Given the description of an element on the screen output the (x, y) to click on. 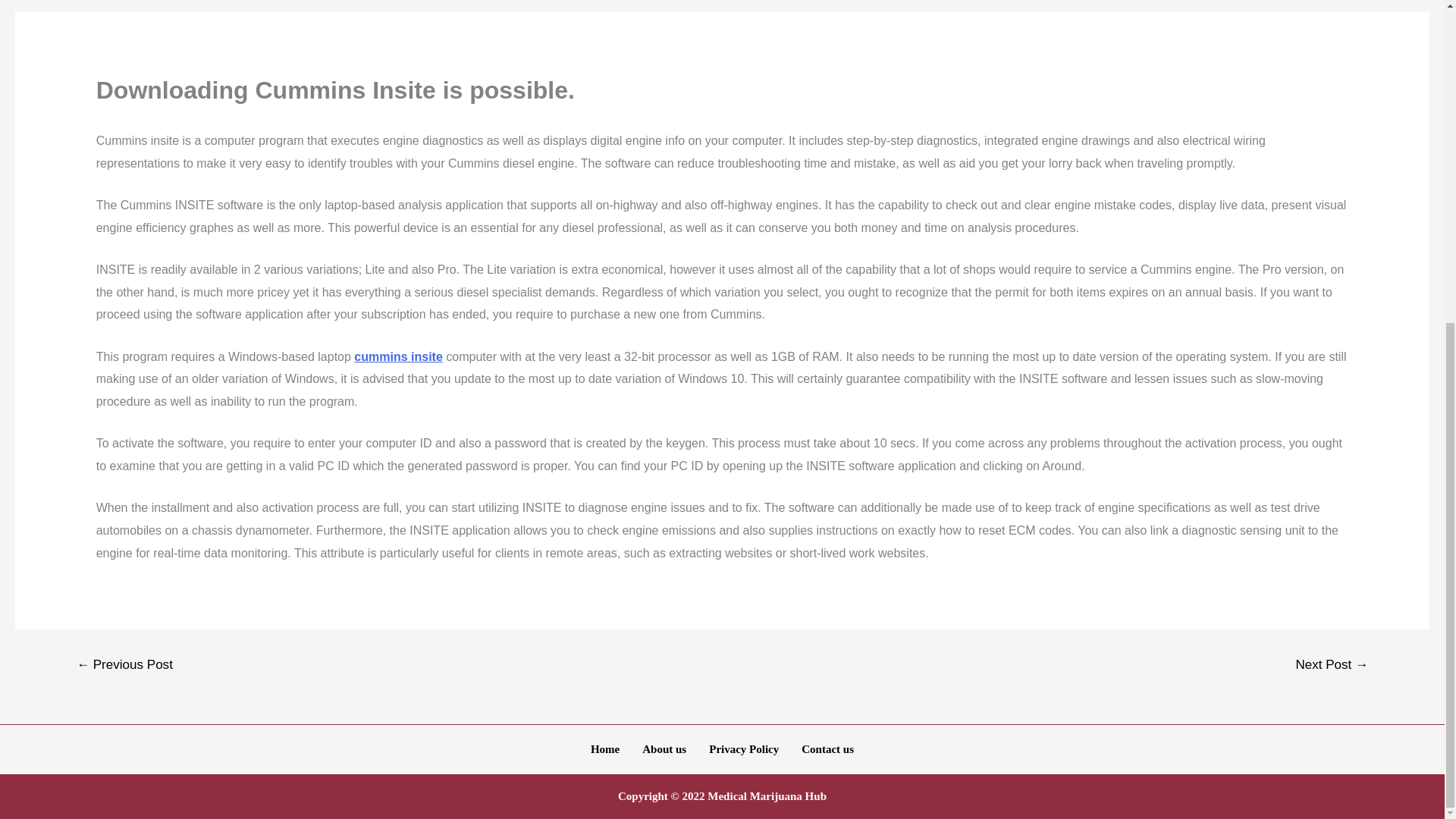
Home (604, 749)
Privacy Policy (743, 749)
cummins insite (397, 356)
Contact us (827, 749)
About us (663, 749)
